Given the description of an element on the screen output the (x, y) to click on. 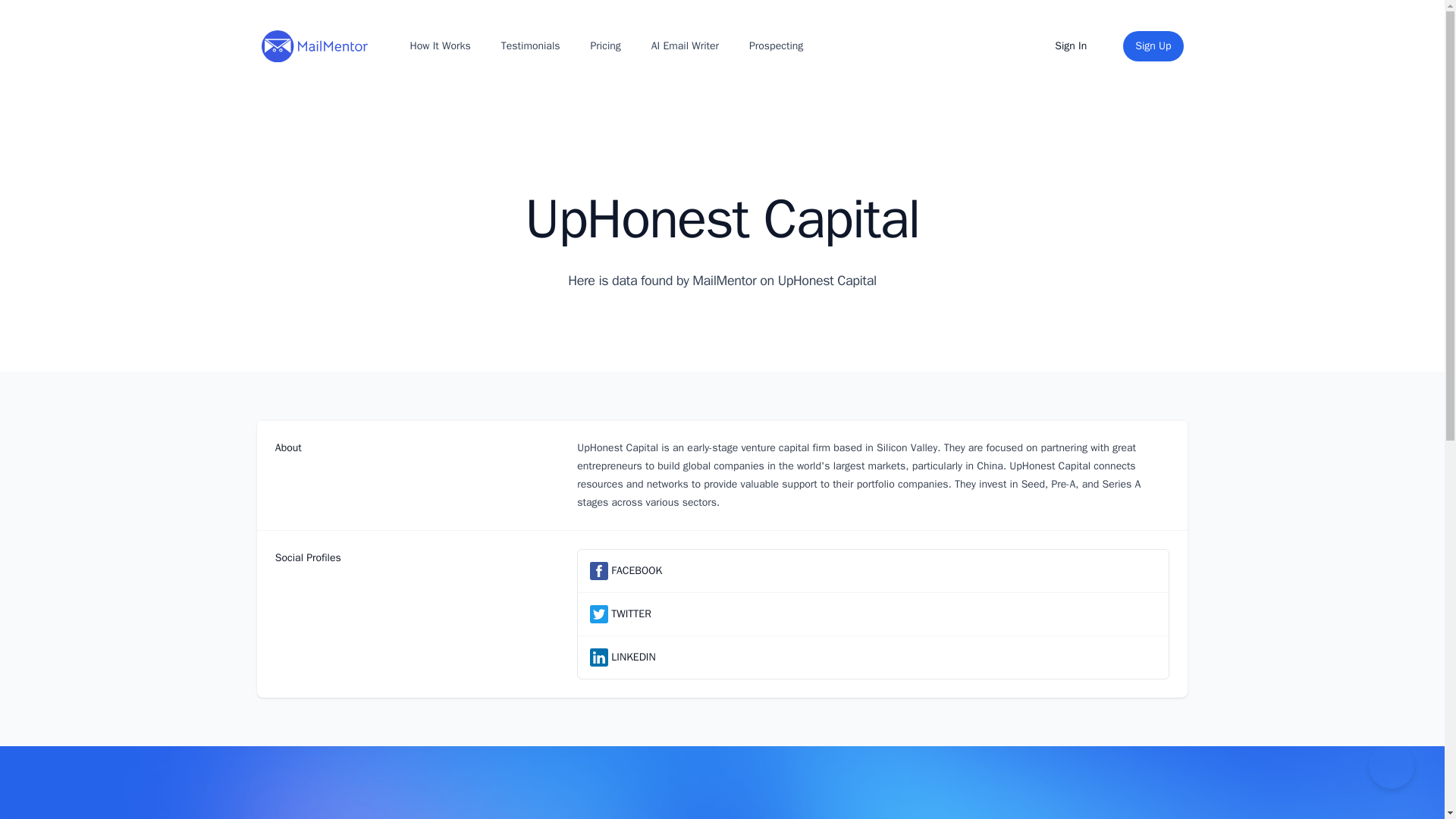
AI Email Writer (685, 46)
facebook (598, 570)
FACEBOOK (636, 570)
Testimonials (530, 46)
Prospecting (775, 46)
linkedin (598, 657)
Sign Up (1152, 46)
TWITTER (630, 614)
LINKEDIN (633, 657)
How It Works (439, 46)
